Given the description of an element on the screen output the (x, y) to click on. 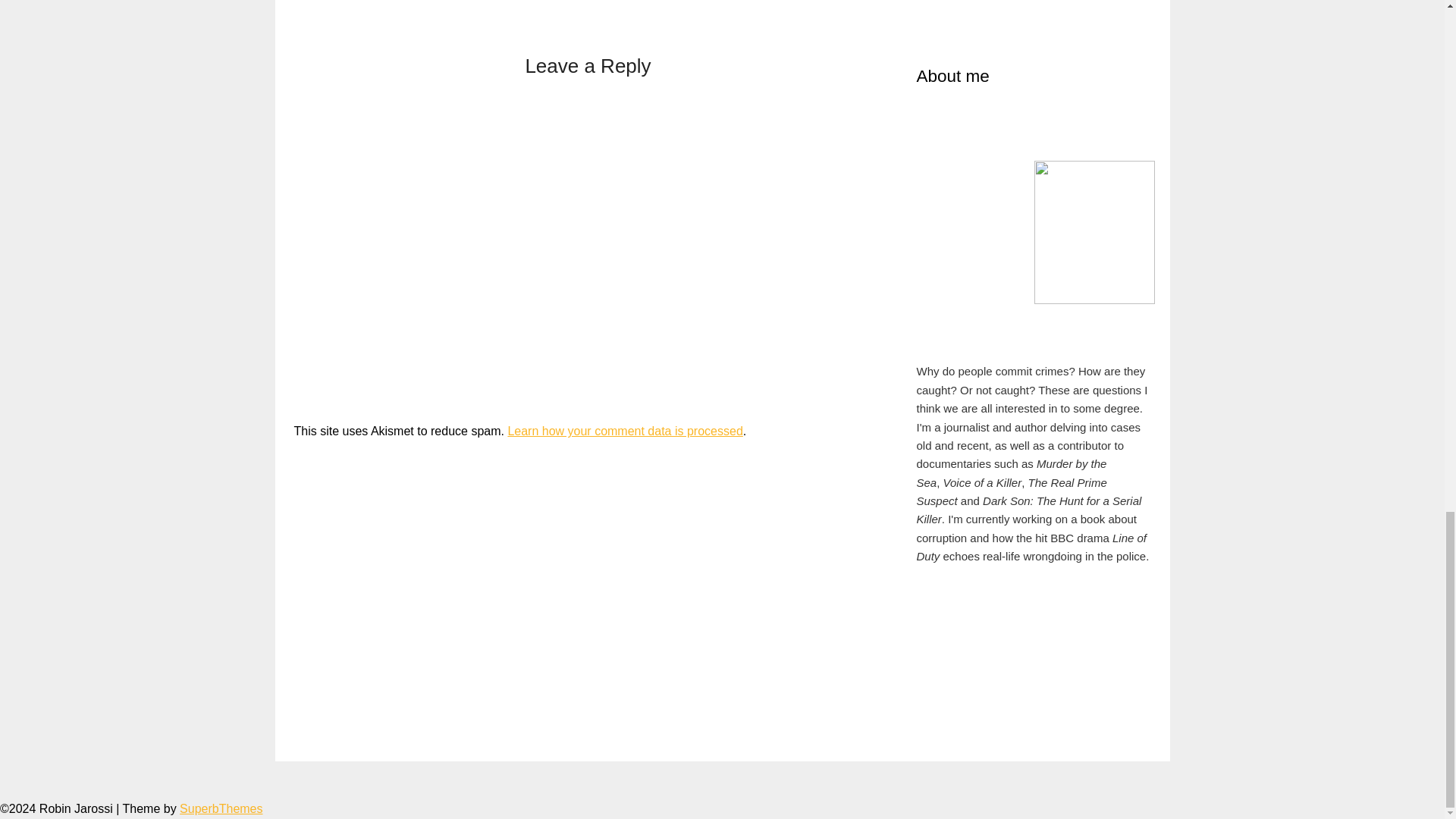
Learn how your comment data is processed (624, 431)
SuperbThemes (220, 808)
